Given the description of an element on the screen output the (x, y) to click on. 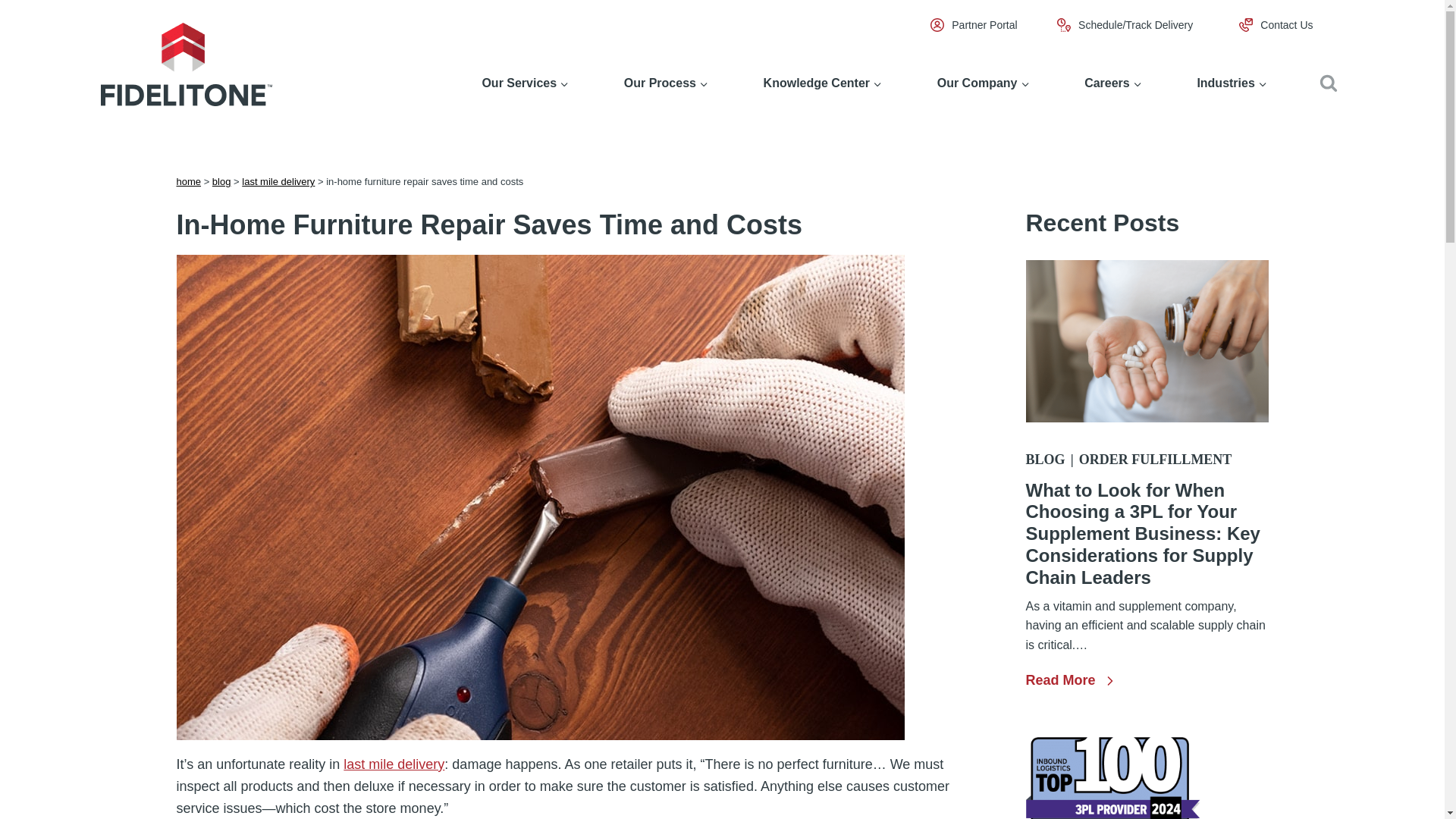
Contact Us (1286, 24)
Our Process (664, 83)
Knowledge Center (822, 83)
Partner Portal (984, 24)
Our Services (525, 83)
